Given the description of an element on the screen output the (x, y) to click on. 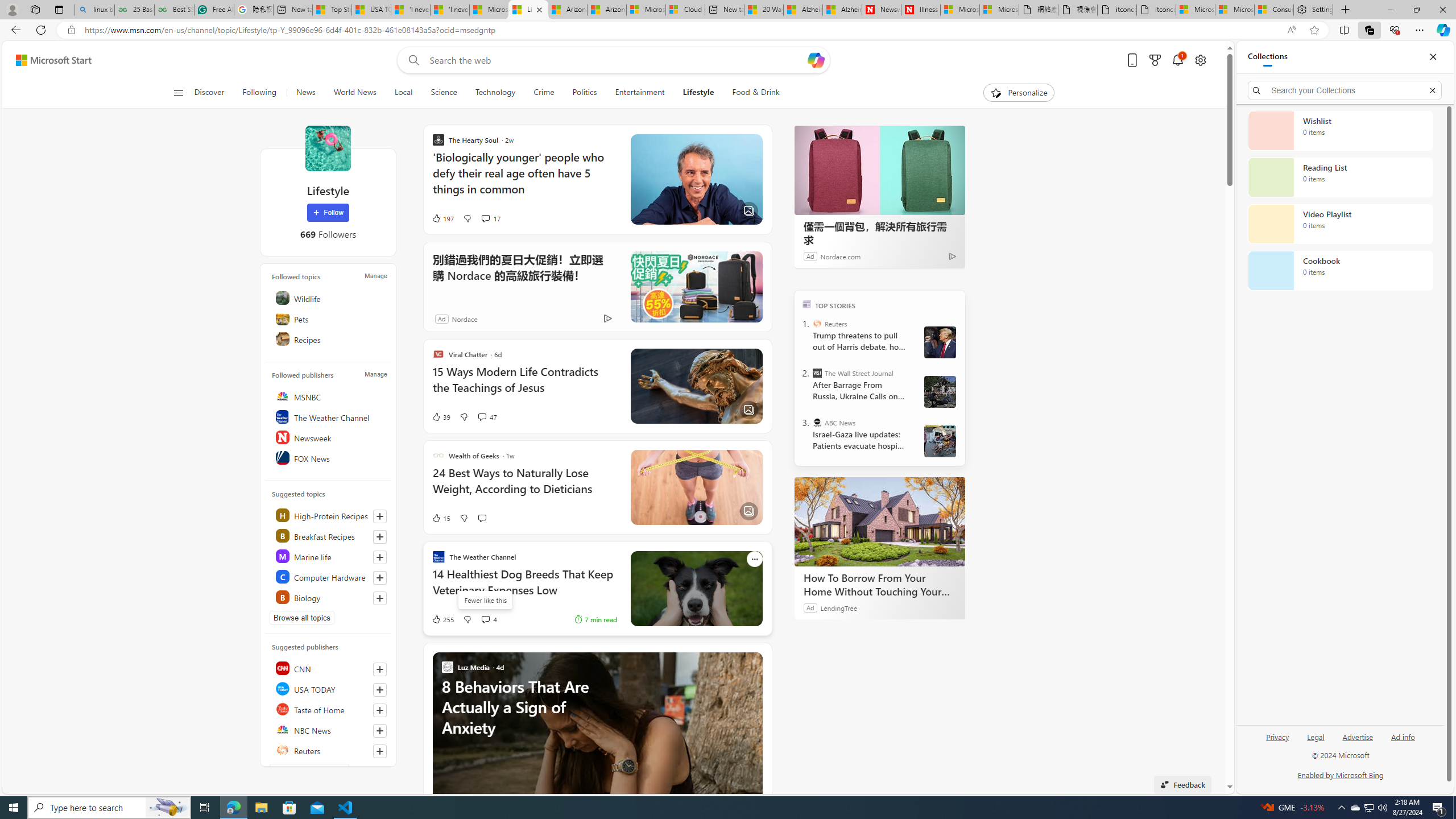
Manage (375, 374)
Free AI Writing Assistance for Students | Grammarly (213, 9)
Follow this source (379, 751)
